Given the description of an element on the screen output the (x, y) to click on. 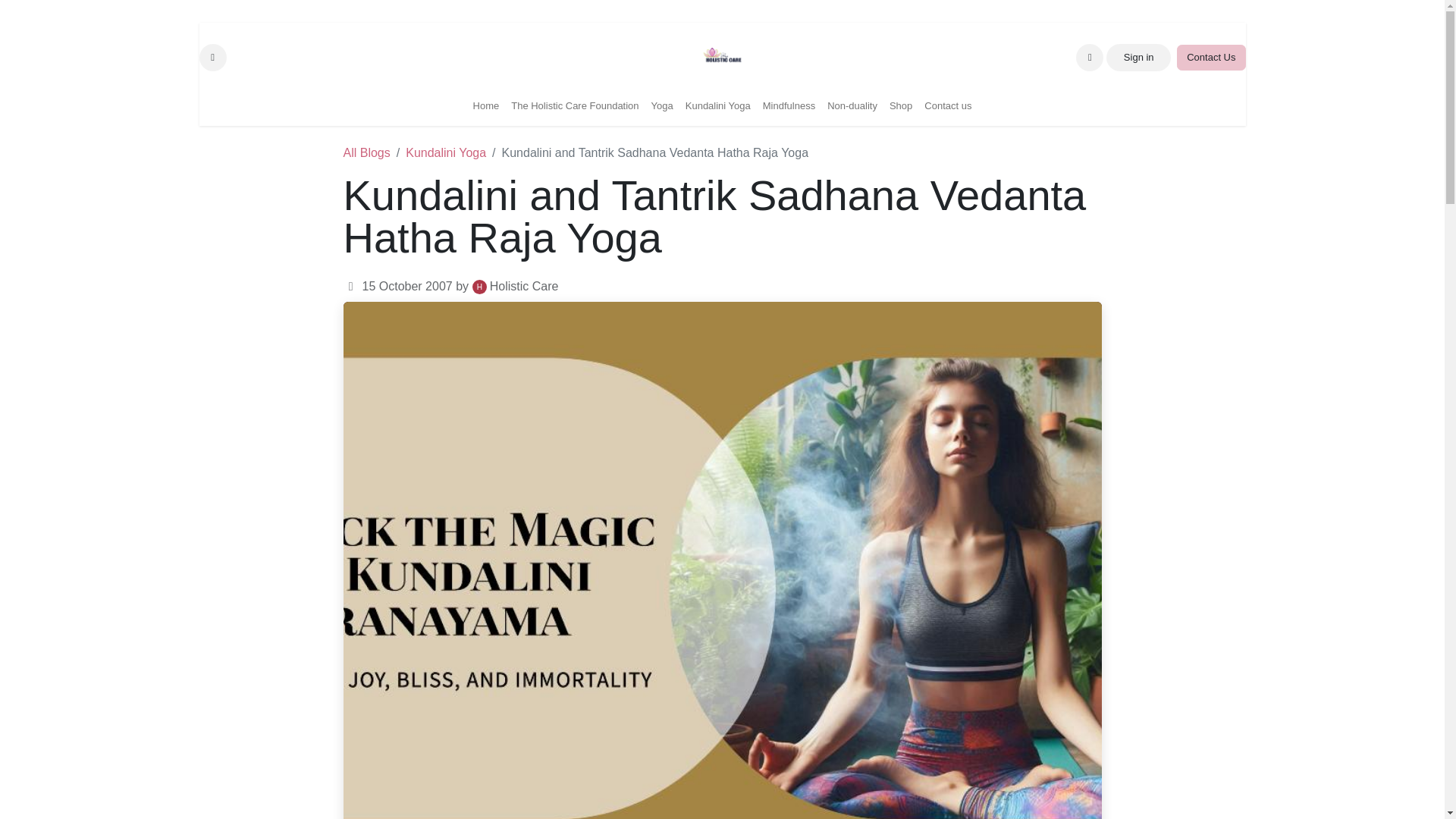
Contact Us (1210, 57)
Kundalini Yoga (718, 105)
Shop (900, 105)
Sign in (1138, 57)
The Holistic Care Foundation (575, 105)
Search (721, 63)
Home (211, 57)
Mindfulness (486, 105)
Kundalini Yoga (789, 105)
